Given the description of an element on the screen output the (x, y) to click on. 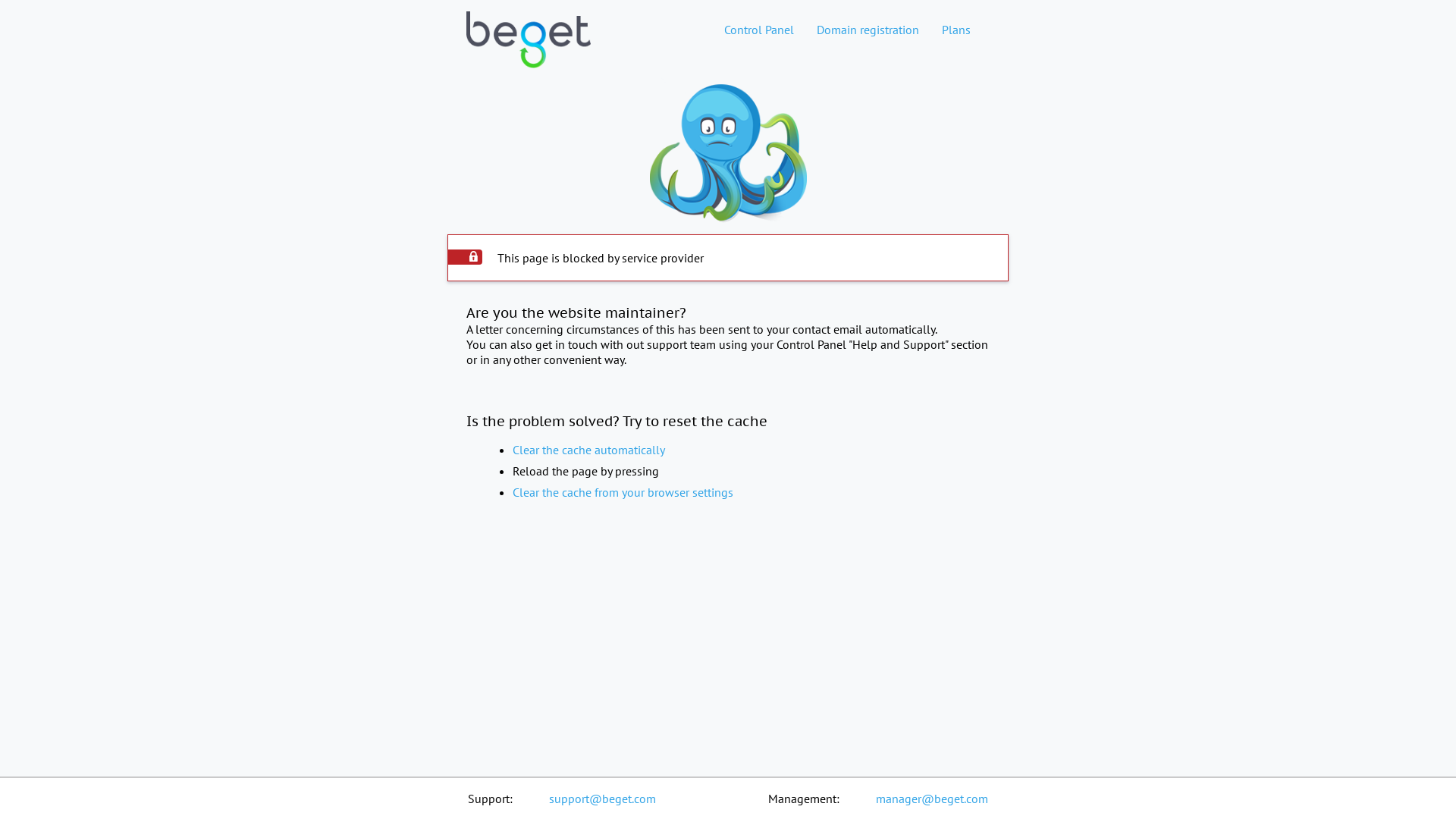
Control Panel Element type: text (758, 29)
Web hosting home page Element type: hover (528, 51)
Plans Element type: text (956, 29)
support@beget.com Element type: text (602, 798)
manager@beget.com Element type: text (931, 798)
Clear the cache from your browser settings Element type: text (622, 491)
Clear the cache automatically Element type: text (588, 449)
Domain registration Element type: text (867, 29)
